Given the description of an element on the screen output the (x, y) to click on. 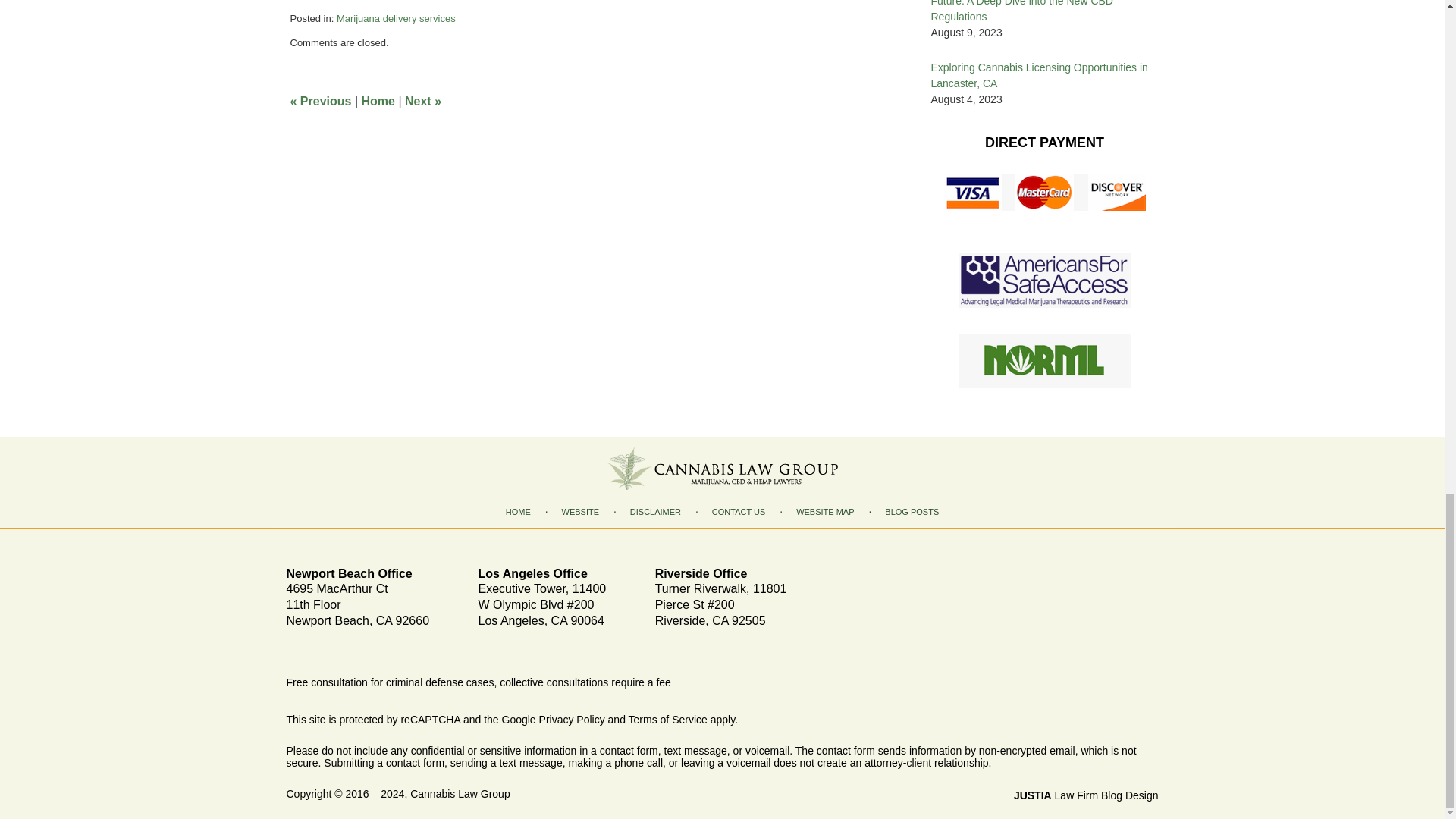
Marijuana delivery services (395, 116)
E-Cannabis: California Companies Connect Marijuana with Tech (474, 38)
Study: Teen Marijuana Use Not Linked to Health Trouble, (452, 87)
View all posts in Marijuana delivery services (395, 116)
